Given the description of an element on the screen output the (x, y) to click on. 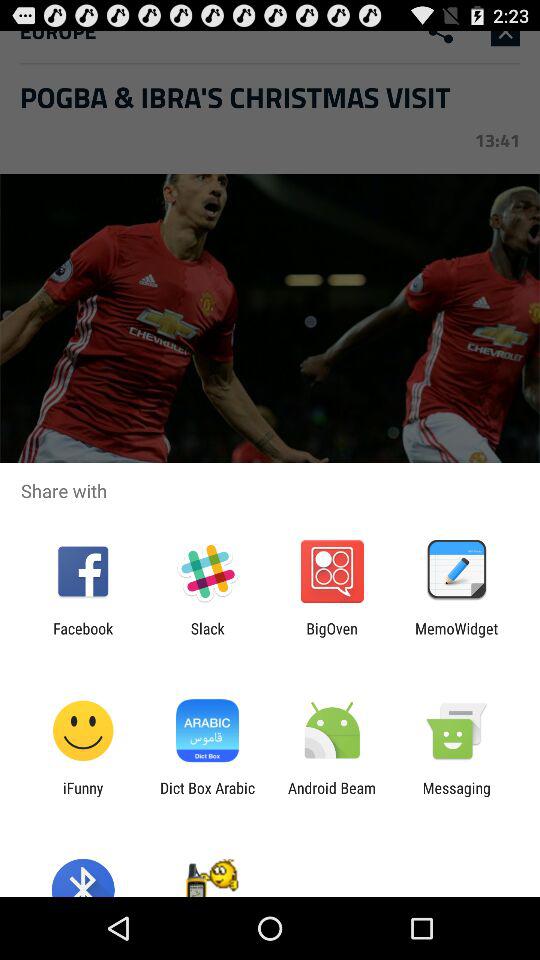
press the app to the left of messaging app (332, 796)
